Given the description of an element on the screen output the (x, y) to click on. 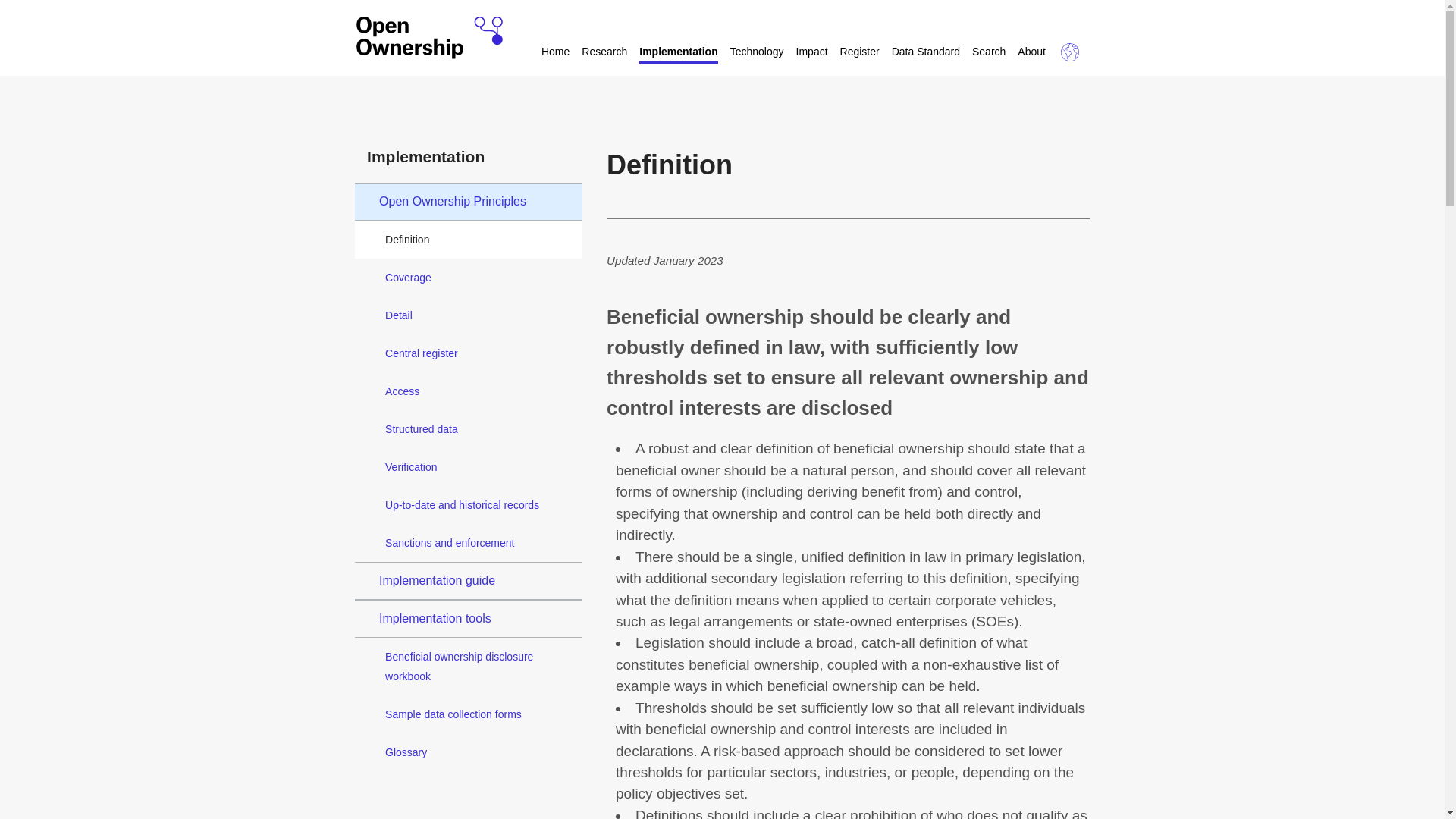
Home (555, 52)
Implementation (678, 52)
Research (603, 52)
